Given the description of an element on the screen output the (x, y) to click on. 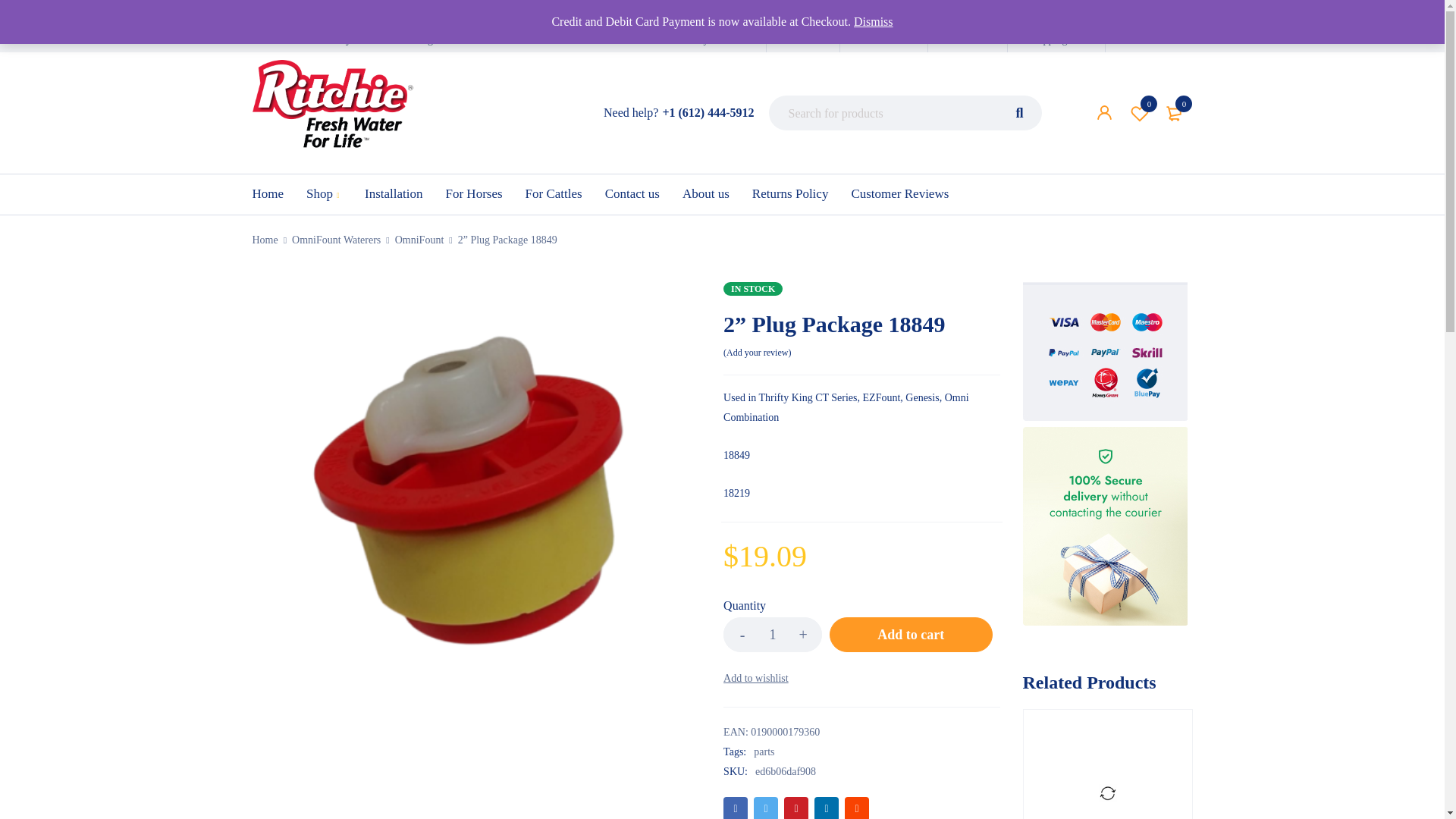
My Account (720, 39)
Track order (883, 39)
View your shopping cart (1174, 112)
Shopping cart (1139, 112)
Ritchie (1056, 39)
Wishlist (332, 112)
18849-980x1008-removebg-preview (803, 39)
Wishlist (772, 634)
Checkout (1139, 112)
0 (967, 39)
- (1174, 112)
Search (742, 634)
